Given the description of an element on the screen output the (x, y) to click on. 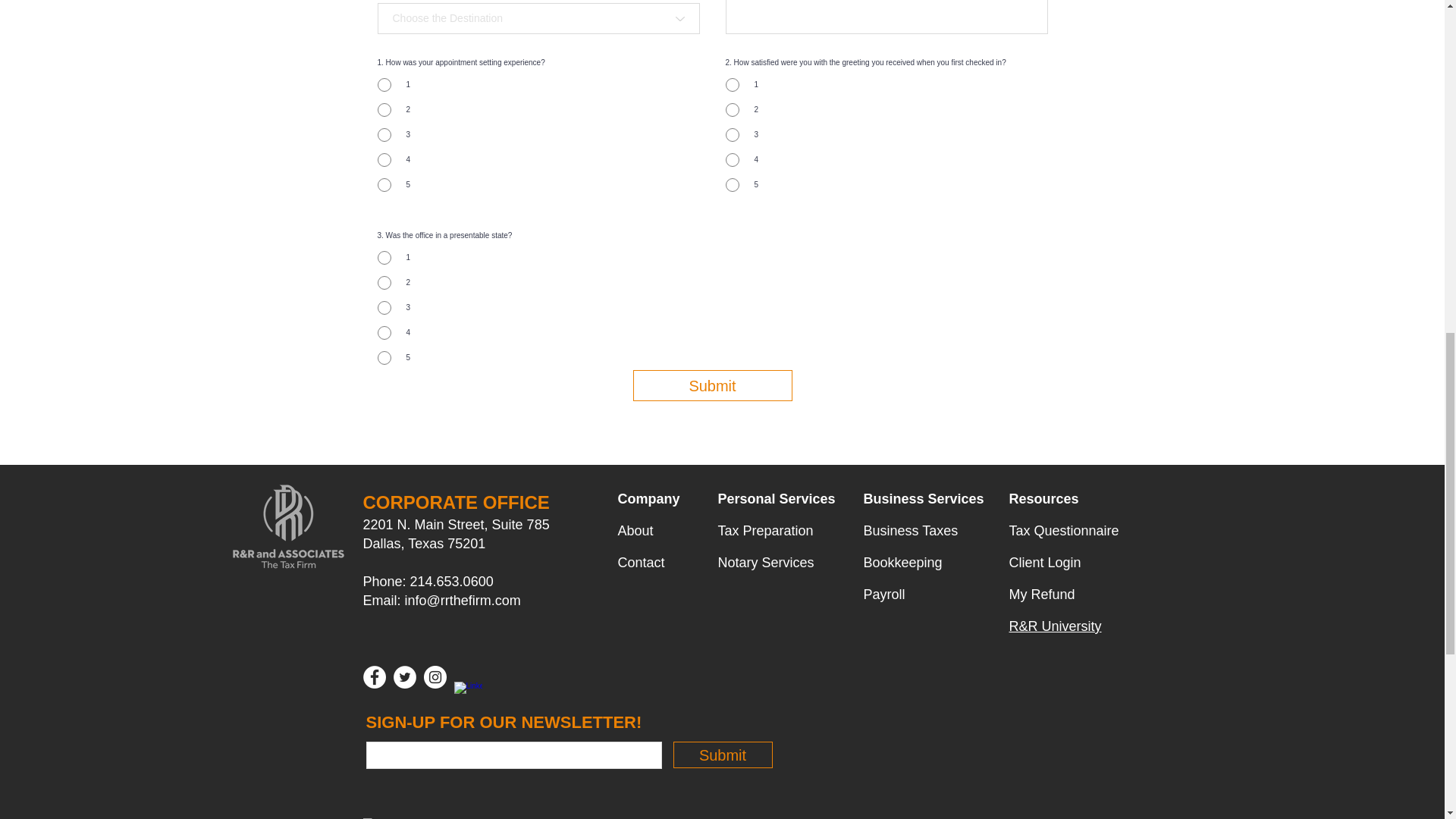
Submit (722, 755)
Submit (711, 385)
Business Taxes (910, 530)
Notary Services (765, 562)
Bookkeeping (902, 562)
Client Login (1044, 562)
Payroll (883, 594)
Contact (640, 562)
Tax Questionnaire (1063, 530)
About (634, 530)
